Given the description of an element on the screen output the (x, y) to click on. 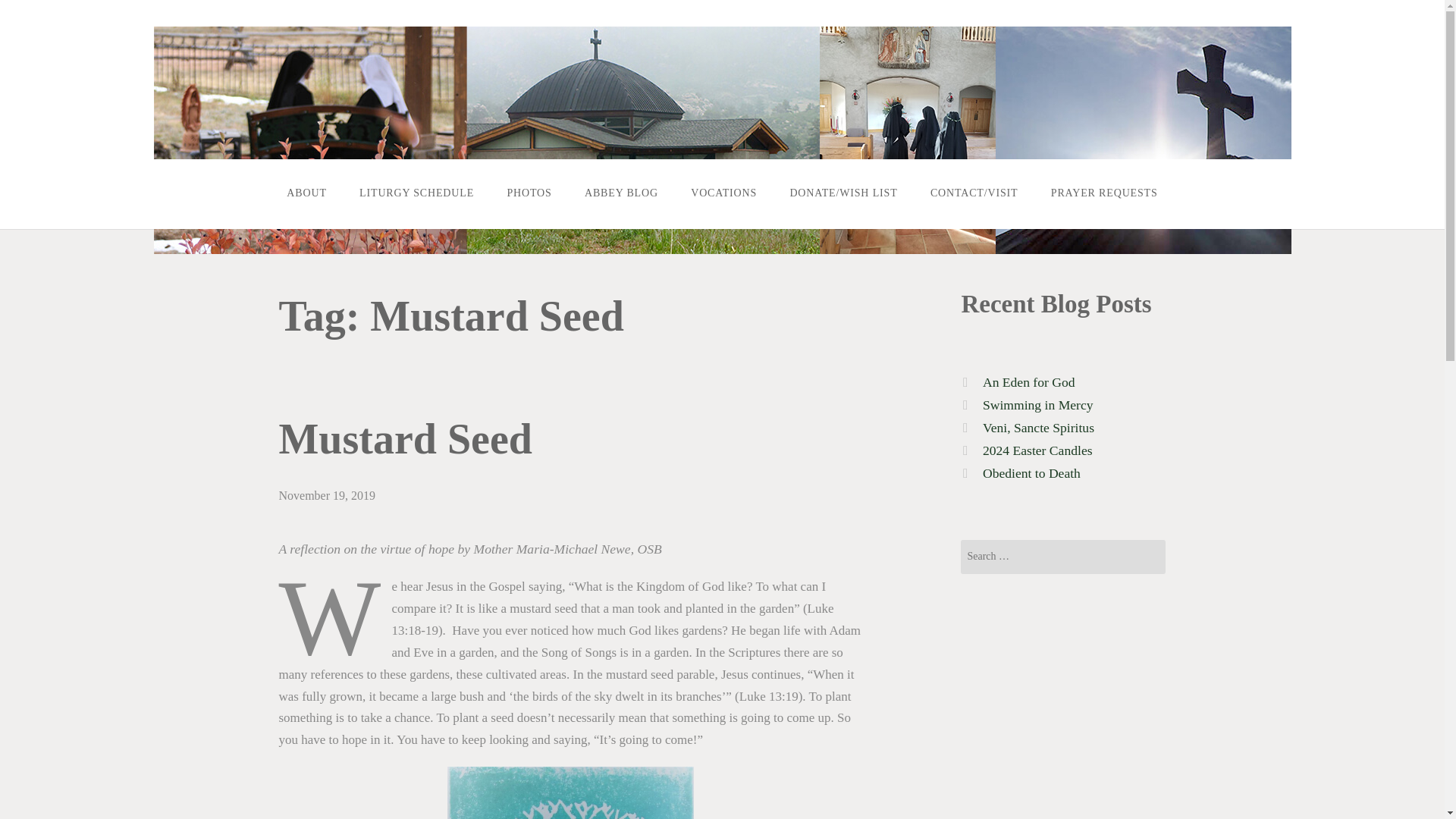
Obedient to Death (1031, 473)
Search (34, 11)
Veni, Sancte Spiritus (1038, 427)
ABBEY BLOG (620, 192)
Swimming in Mercy (1037, 404)
LITURGY SCHEDULE (415, 192)
An Eden for God (1028, 381)
2024 Easter Candles (1037, 450)
Mustard Seed (405, 438)
ABOUT (306, 192)
PHOTOS (529, 192)
VOCATIONS (724, 192)
PRAYER REQUESTS (1103, 192)
